Given the description of an element on the screen output the (x, y) to click on. 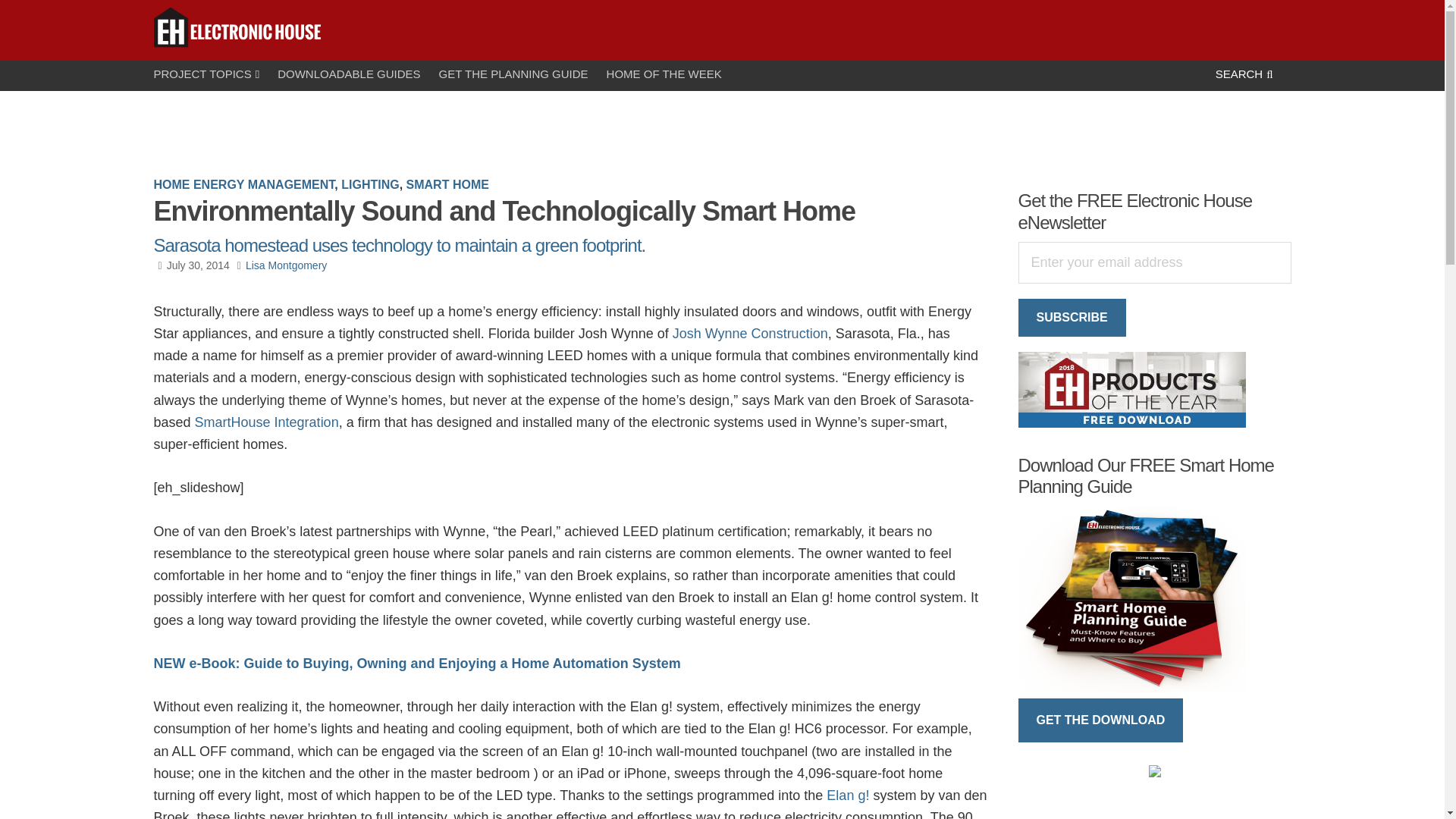
 Josh Wynne Construction (748, 333)
LIGHTING (369, 184)
HOME ENERGY MANAGEMENT (243, 184)
SmartHouse Integration (267, 421)
Josh Wynne Construction (748, 333)
HOME OF THE WEEK (673, 73)
DOWNLOADABLE GUIDES (358, 73)
SmartHouse Integration (267, 421)
GET THE PLANNING GUIDE (523, 73)
Elan g! (848, 795)
Elan g! (848, 795)
SMART HOME (447, 184)
PROJECT TOPICS (215, 73)
Lisa Montgomery (286, 265)
